Given the description of an element on the screen output the (x, y) to click on. 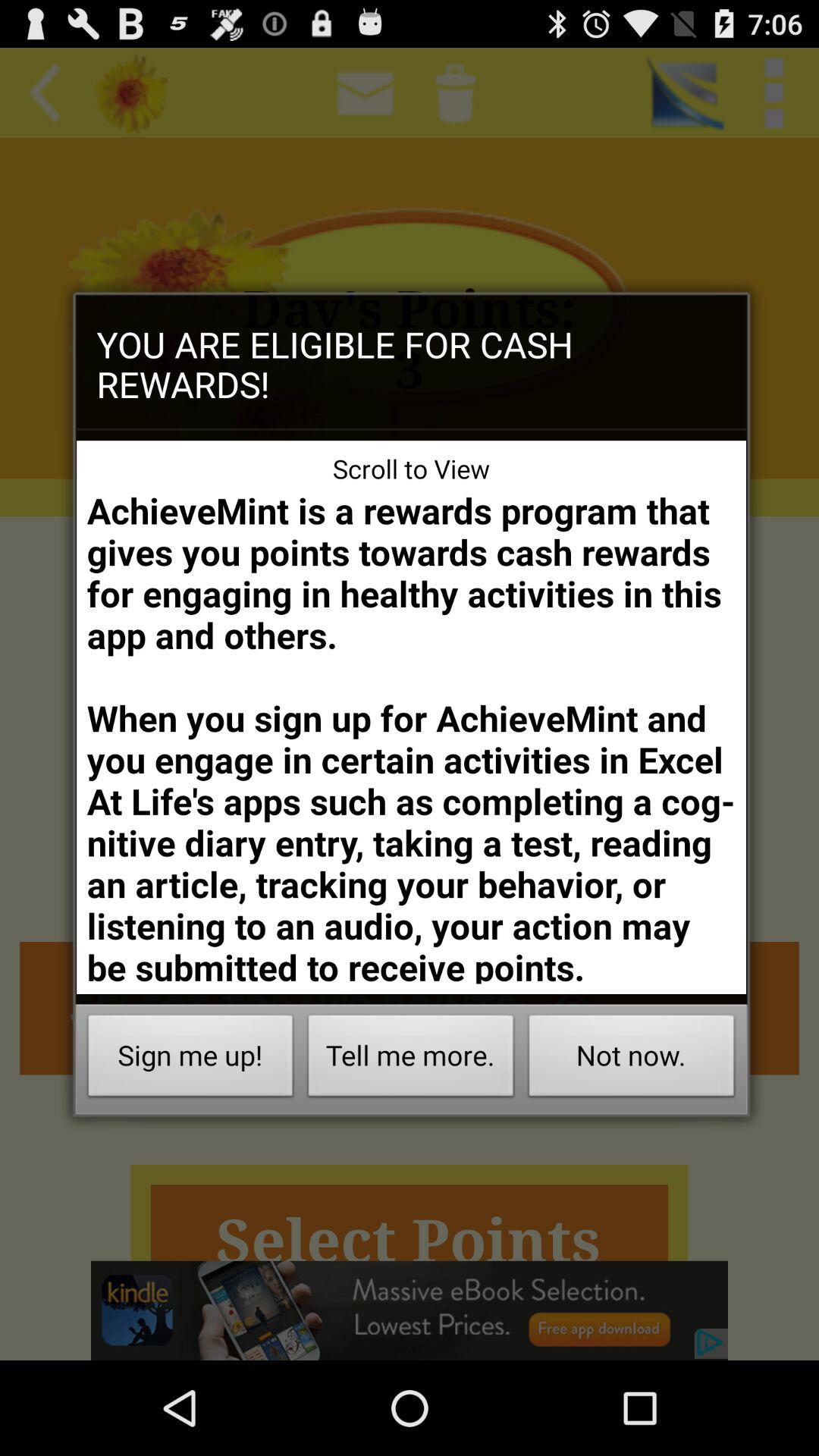
click the item next to sign me up! icon (410, 1059)
